Given the description of an element on the screen output the (x, y) to click on. 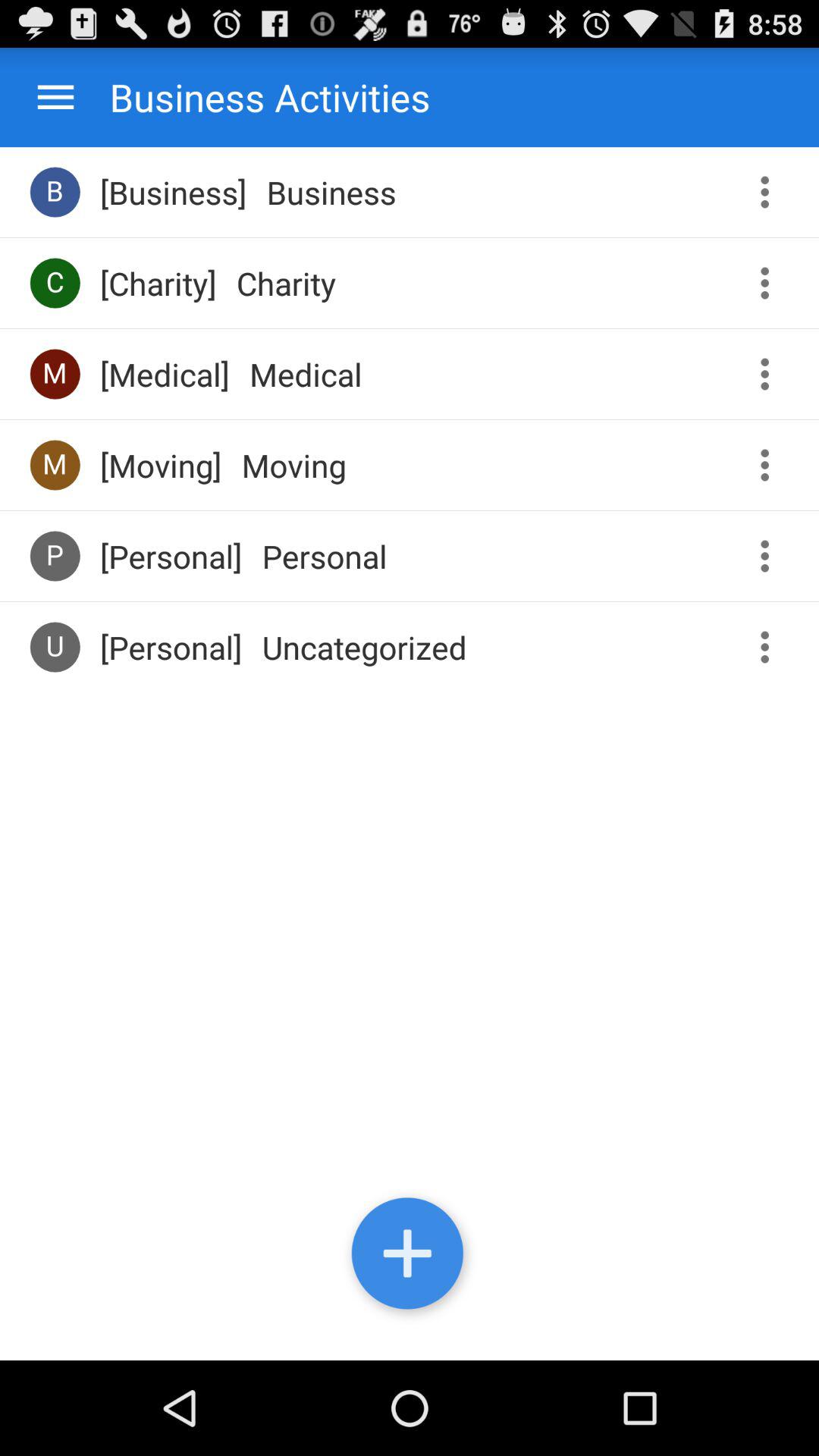
turn off the business activities icon (254, 96)
